Given the description of an element on the screen output the (x, y) to click on. 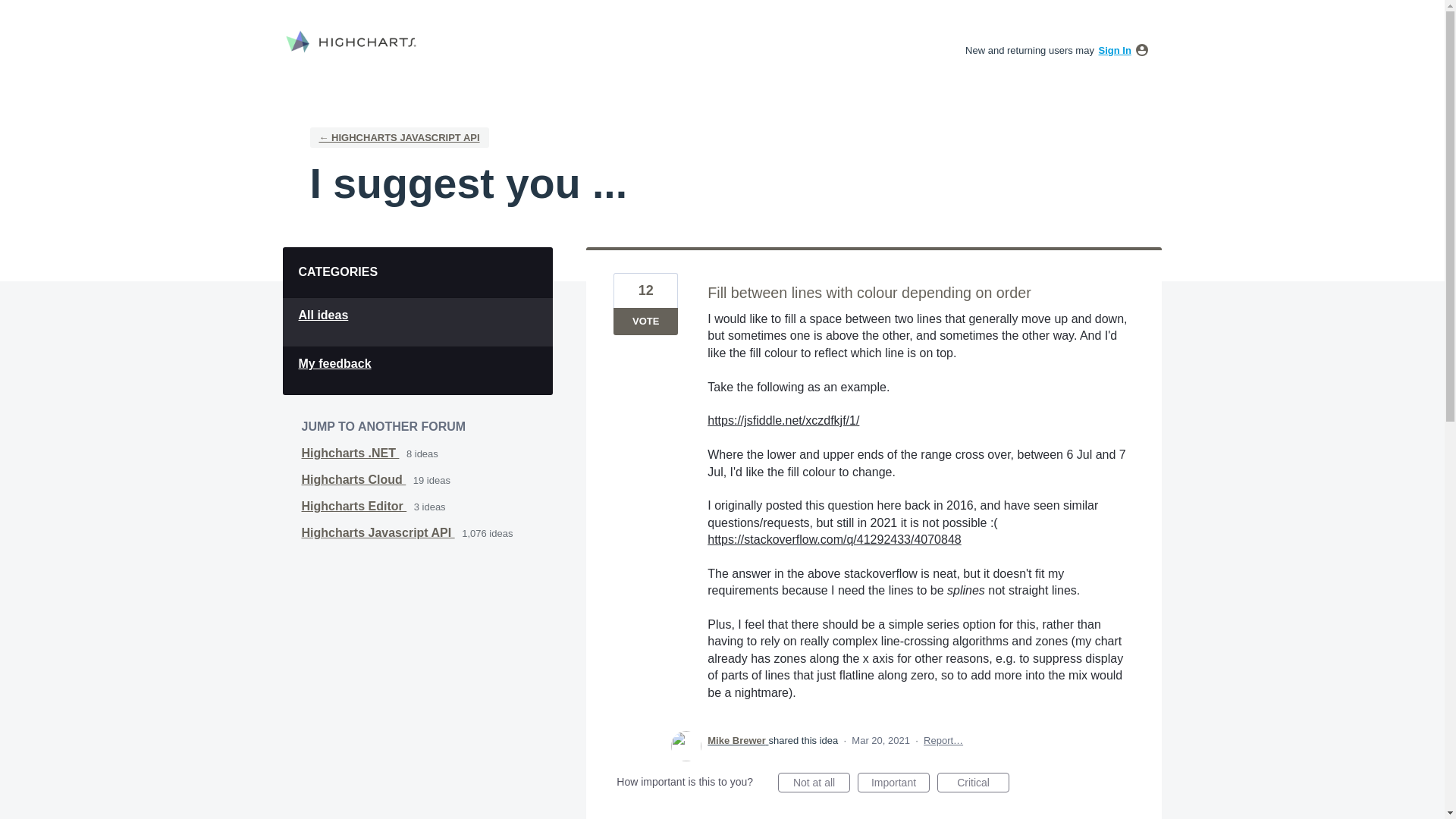
View all ideas in Highcharts Javascript API (377, 532)
Highcharts Cloud (353, 479)
View all ideas in Highcharts Editor (354, 505)
My feedback (417, 370)
View all ideas in Highcharts .NET (349, 452)
View all ideas in Highcharts Cloud (353, 479)
Highcharts Editor (354, 505)
Skip to content (12, 12)
Sign In (1115, 50)
VOTE (645, 320)
All ideas (417, 322)
Mike Brewer (737, 740)
Highcharts Javascript API (377, 532)
Highcharts .NET (349, 452)
